Given the description of an element on the screen output the (x, y) to click on. 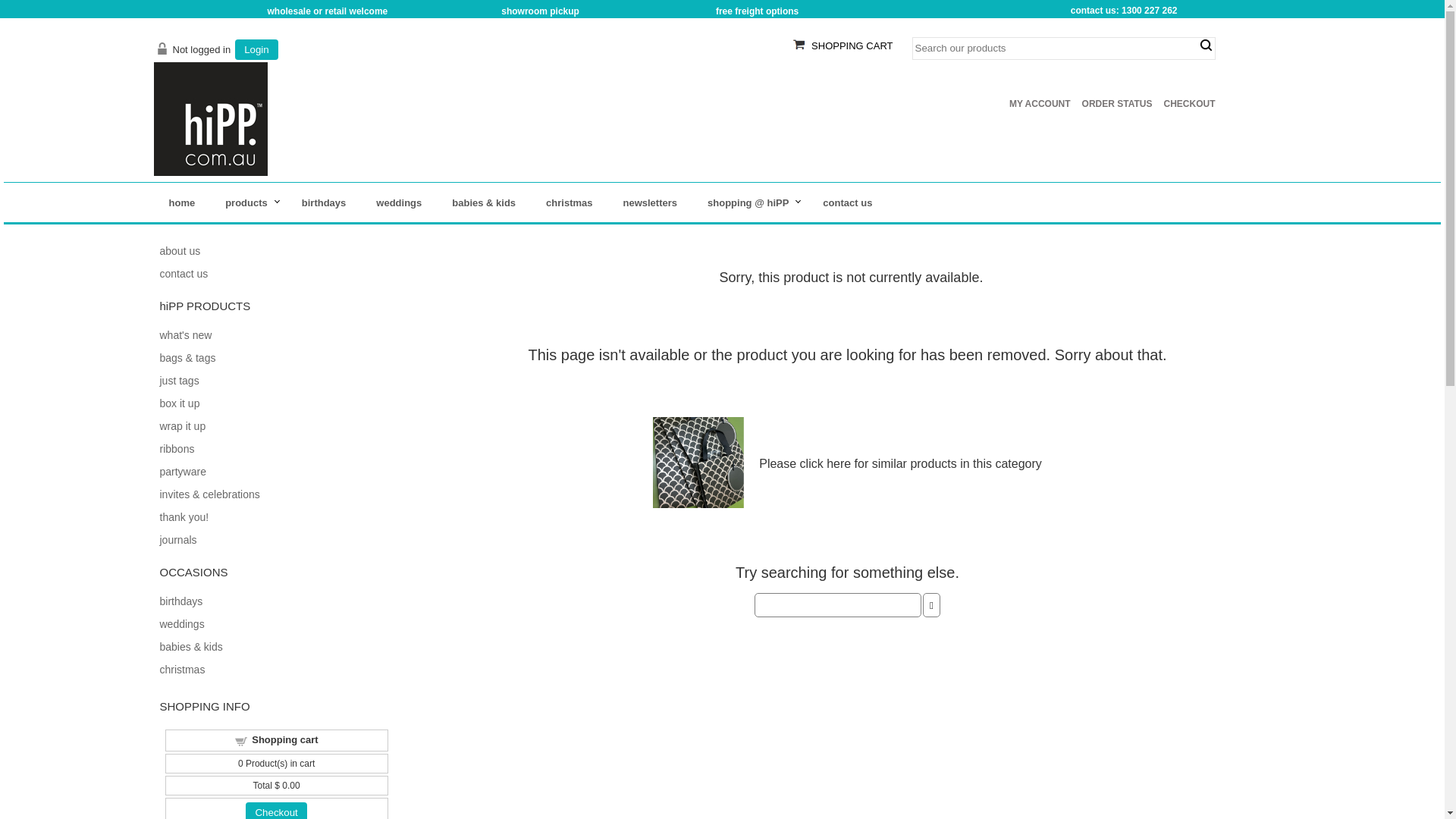
bags & tags Element type: text (187, 357)
weddings Element type: text (181, 624)
search Element type: text (1205, 45)
home Element type: text (181, 202)
box it up Element type: text (179, 403)
wholesale or retail welcome Element type: text (326, 11)
Please click here for similar products in this category Element type: text (900, 463)
ORDER STATUS Element type: text (1117, 103)
birthdays Element type: text (180, 601)
Shopping cart Element type: text (284, 739)
wrap it up Element type: text (182, 426)
contact us Element type: text (847, 202)
products Element type: text (248, 202)
christmas Element type: text (568, 202)
shopping @ hiPP Element type: text (749, 202)
Login Element type: text (256, 49)
weddings Element type: text (398, 202)
newsletters Element type: text (650, 202)
birthdays Element type: text (323, 202)
journals Element type: text (177, 539)
contact us Element type: text (183, 273)
MY ACCOUNT Element type: text (1039, 103)
invites & celebrations Element type: text (209, 494)
christmas Element type: text (181, 669)
about us Element type: text (179, 250)
CHECKOUT Element type: text (1188, 103)
ribbons Element type: text (176, 448)
partyware Element type: text (182, 471)
just tags Element type: text (178, 380)
babies & kids Element type: text (190, 646)
what's new Element type: text (185, 335)
thank you! Element type: text (183, 517)
SHOPPING CART Element type: text (851, 45)
showroom pickup Element type: text (540, 11)
babies & kids Element type: text (483, 202)
free freight options Element type: text (756, 11)
